Given the description of an element on the screen output the (x, y) to click on. 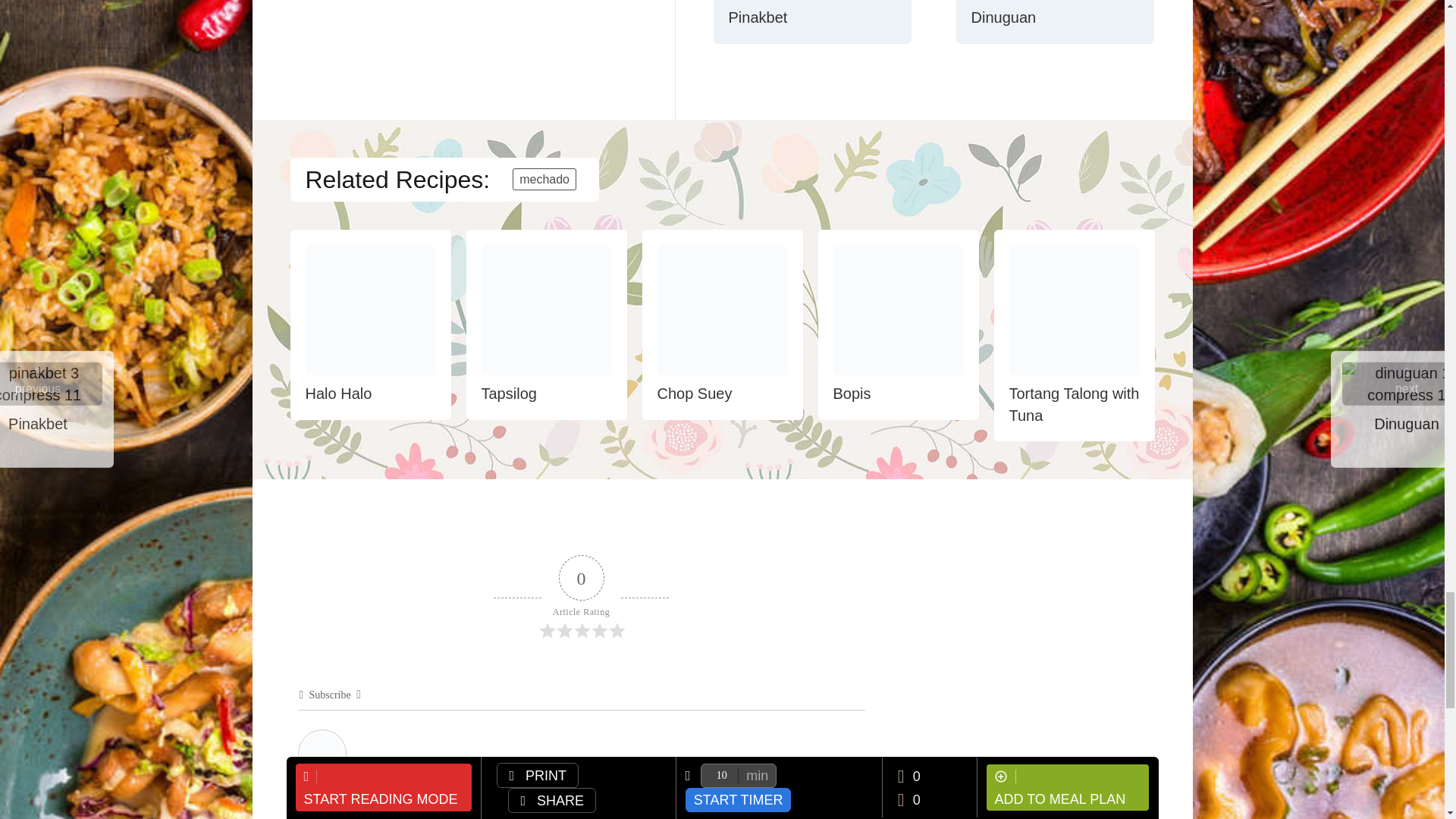
tapsilog compress 1 Tapsilog (545, 309)
Chop Suey min Chop Suey (721, 309)
tortang talong tuna compress 1 Tortang Talong with Tuna (1073, 309)
bopis 1 compress 1 Bopis (897, 309)
halo halo 1 compress 1 Halo Halo (369, 309)
